Given the description of an element on the screen output the (x, y) to click on. 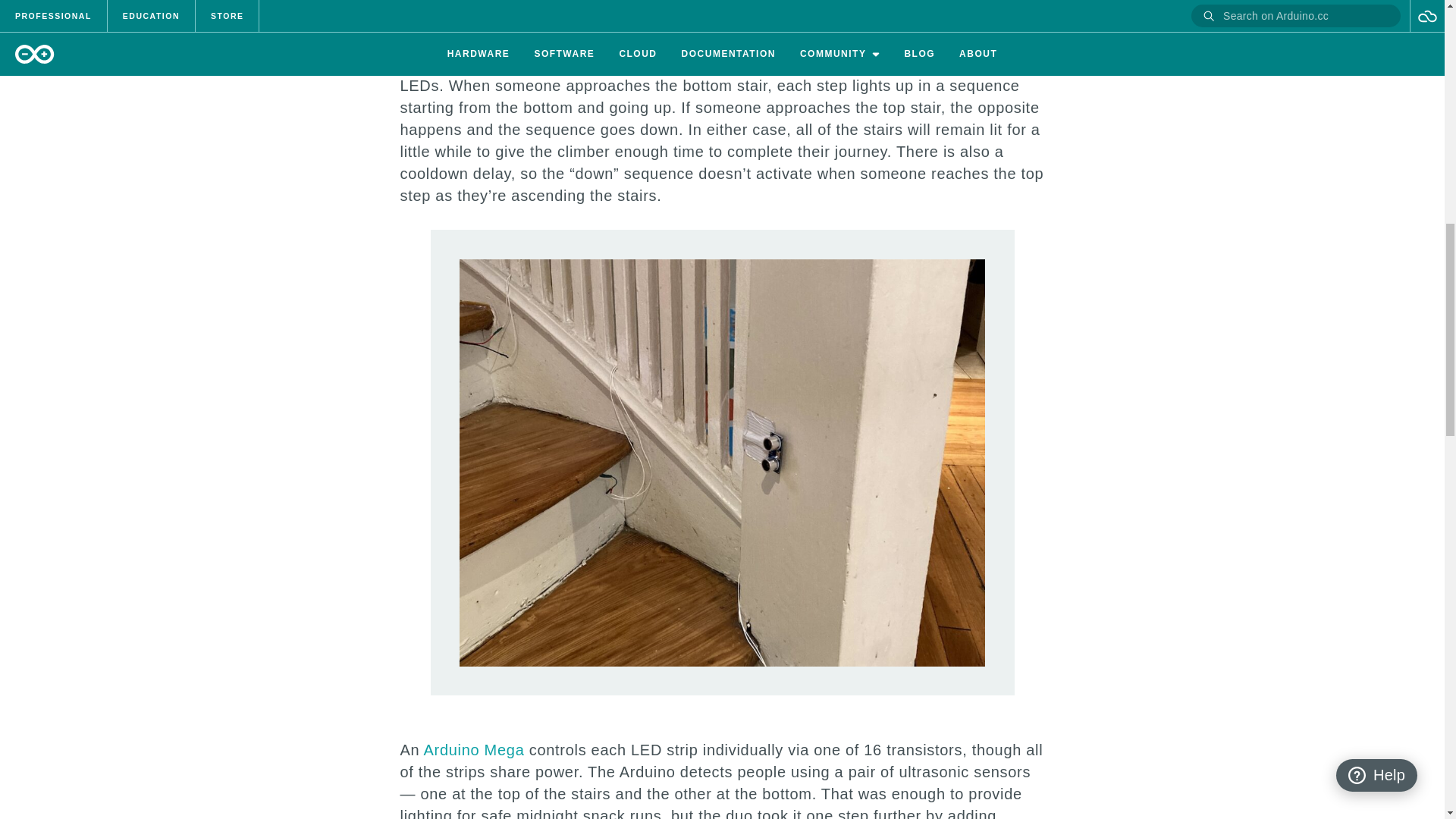
created these cascading LED star lights (694, 26)
Arduino Mega (473, 750)
